Given the description of an element on the screen output the (x, y) to click on. 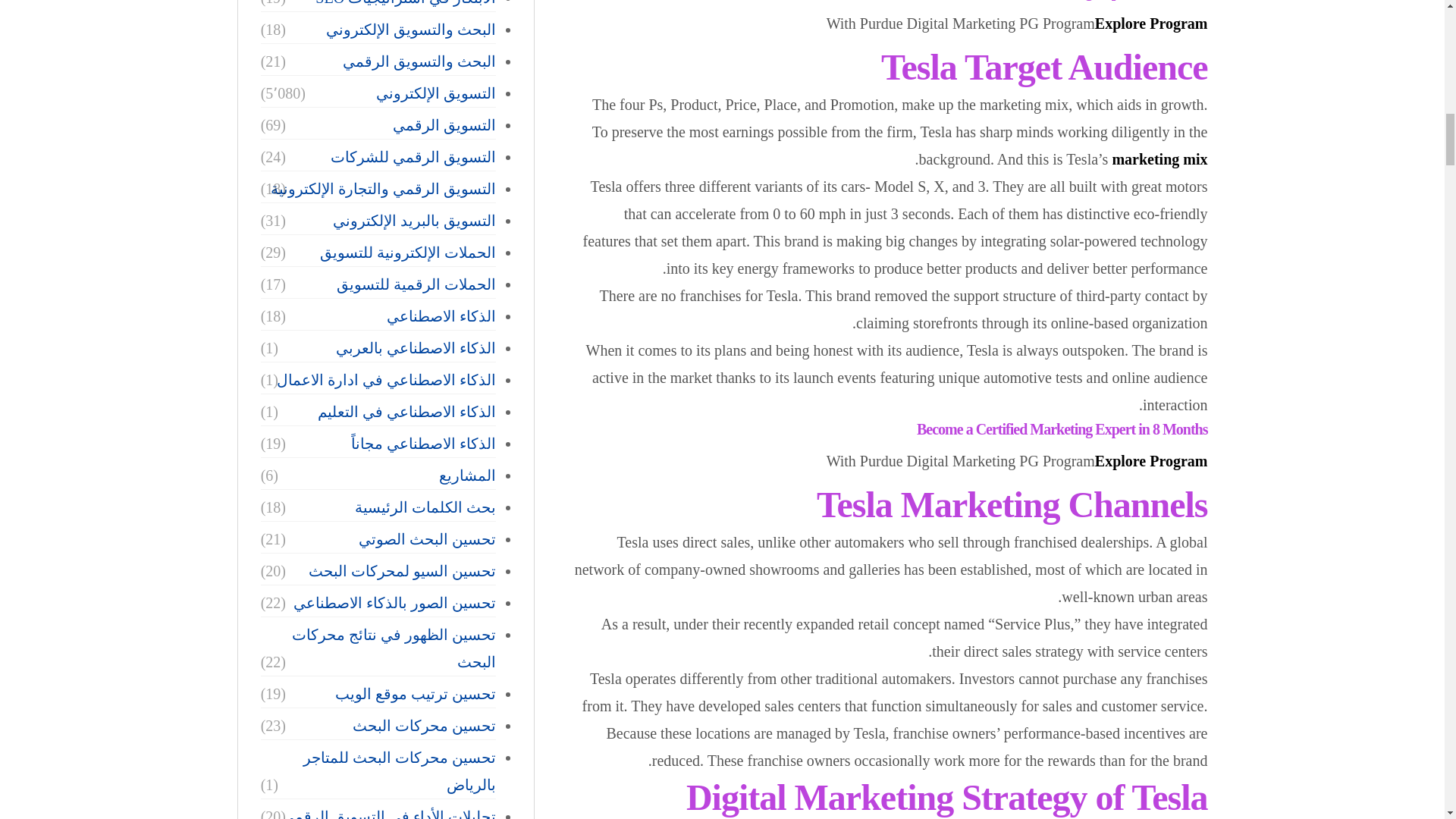
Explore Program (1151, 23)
marketing mix (1159, 158)
